Given the description of an element on the screen output the (x, y) to click on. 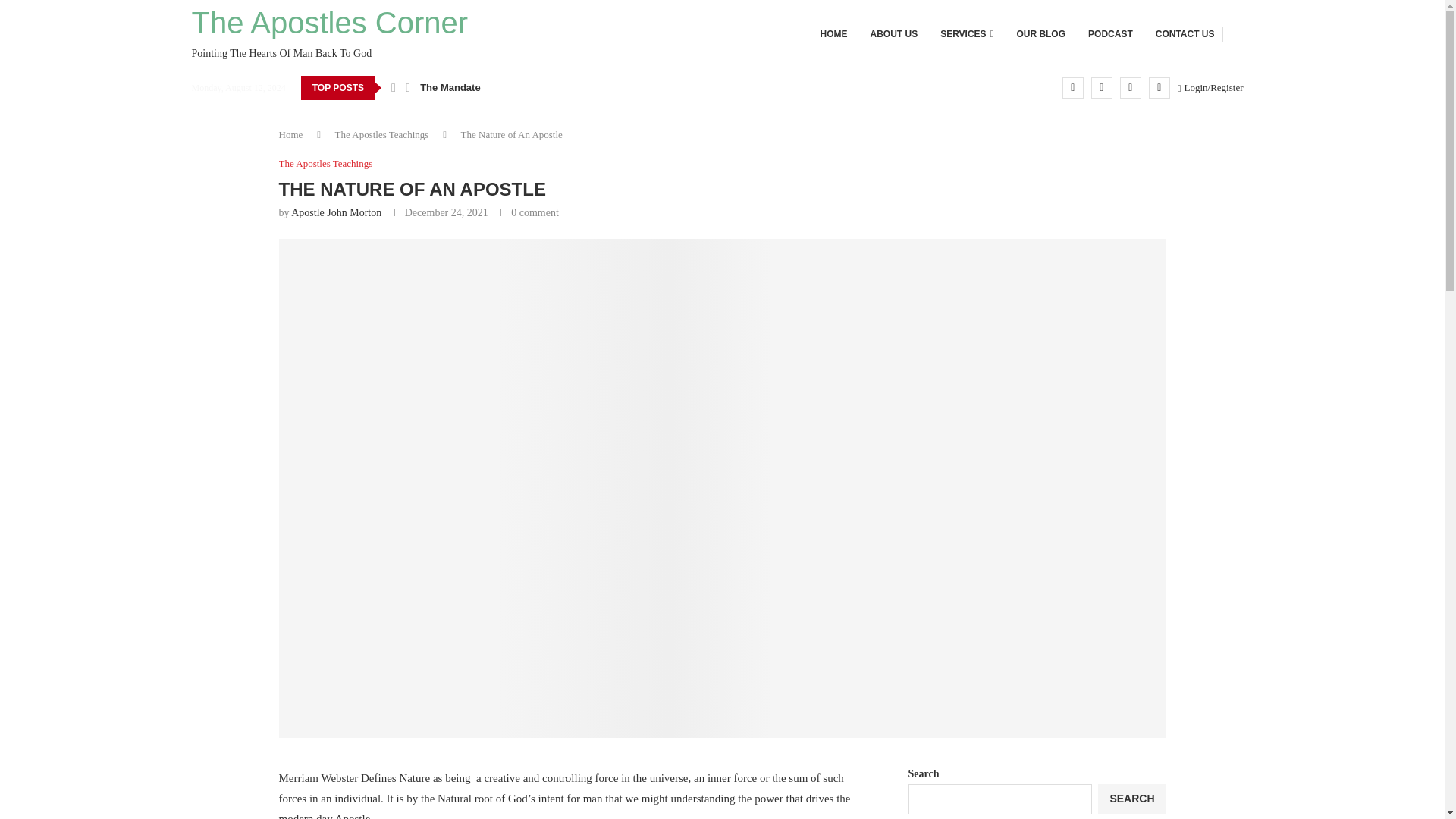
PODCAST (1109, 34)
ABOUT US (893, 34)
SERVICES (966, 34)
The Mandate (450, 87)
CONTACT US (1185, 34)
OUR BLOG (328, 33)
